Given the description of an element on the screen output the (x, y) to click on. 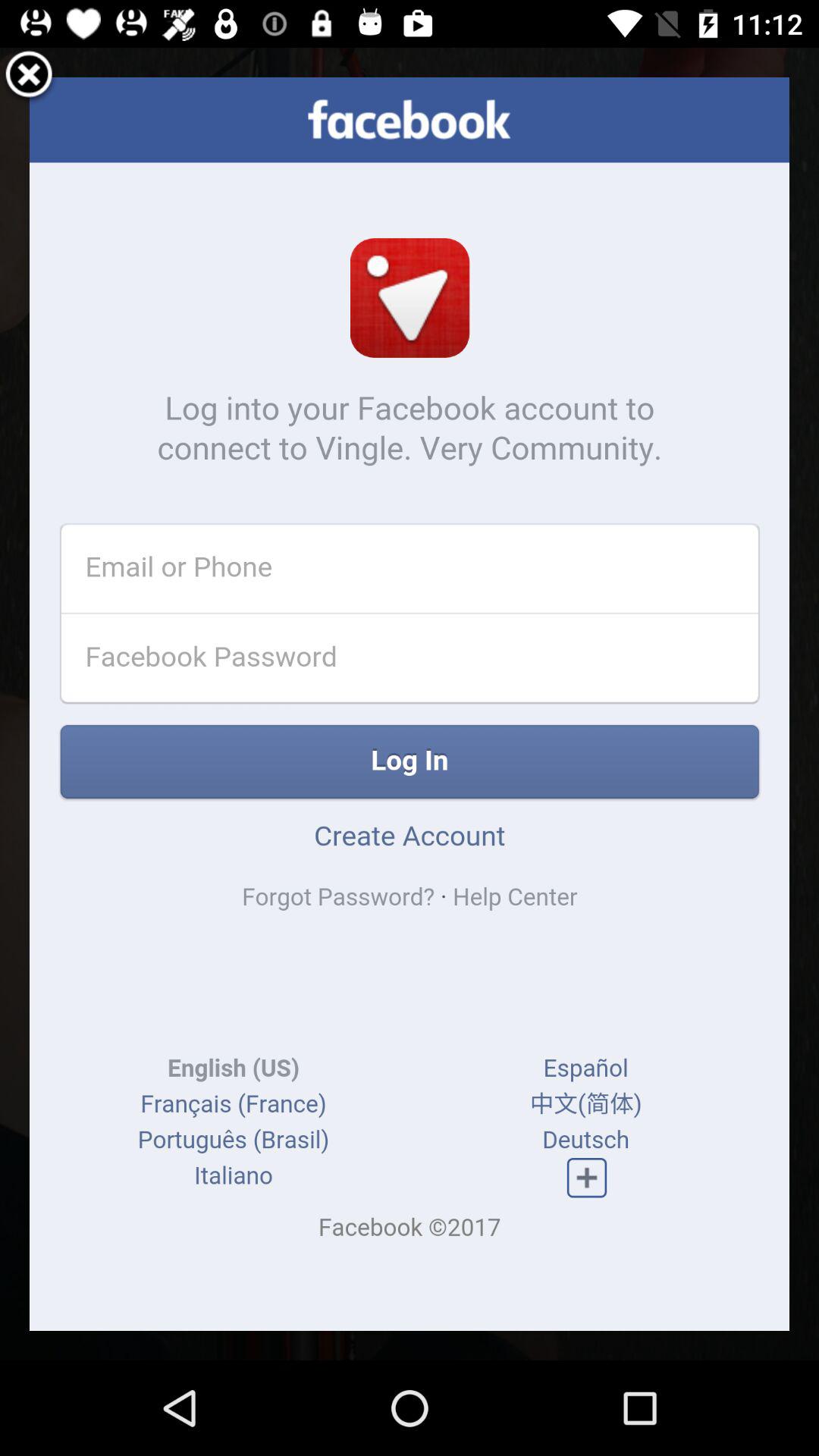
close page (29, 76)
